Given the description of an element on the screen output the (x, y) to click on. 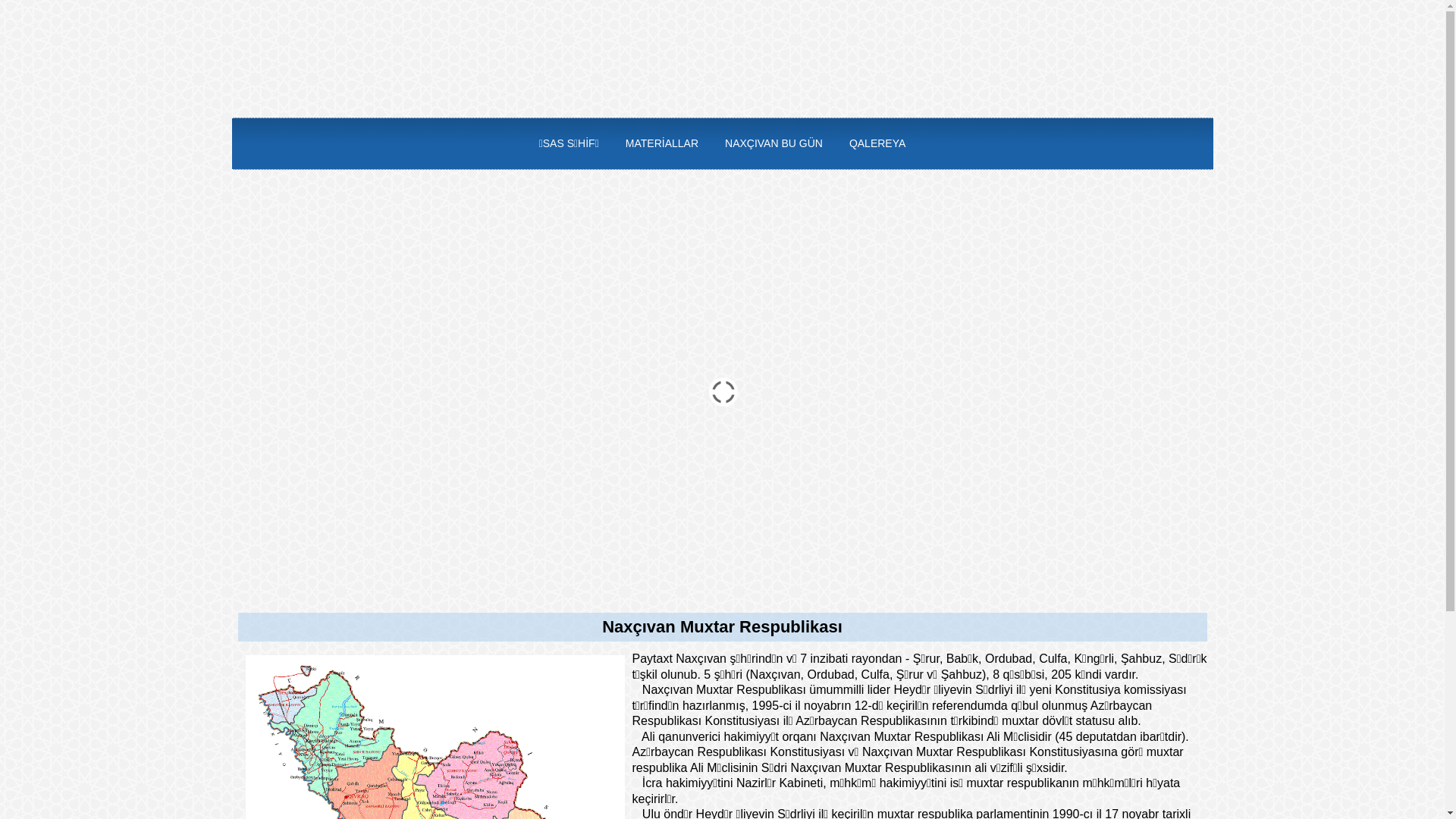
MATERIALLAR Element type: text (661, 143)
QALEREYA Element type: text (877, 143)
